Given the description of an element on the screen output the (x, y) to click on. 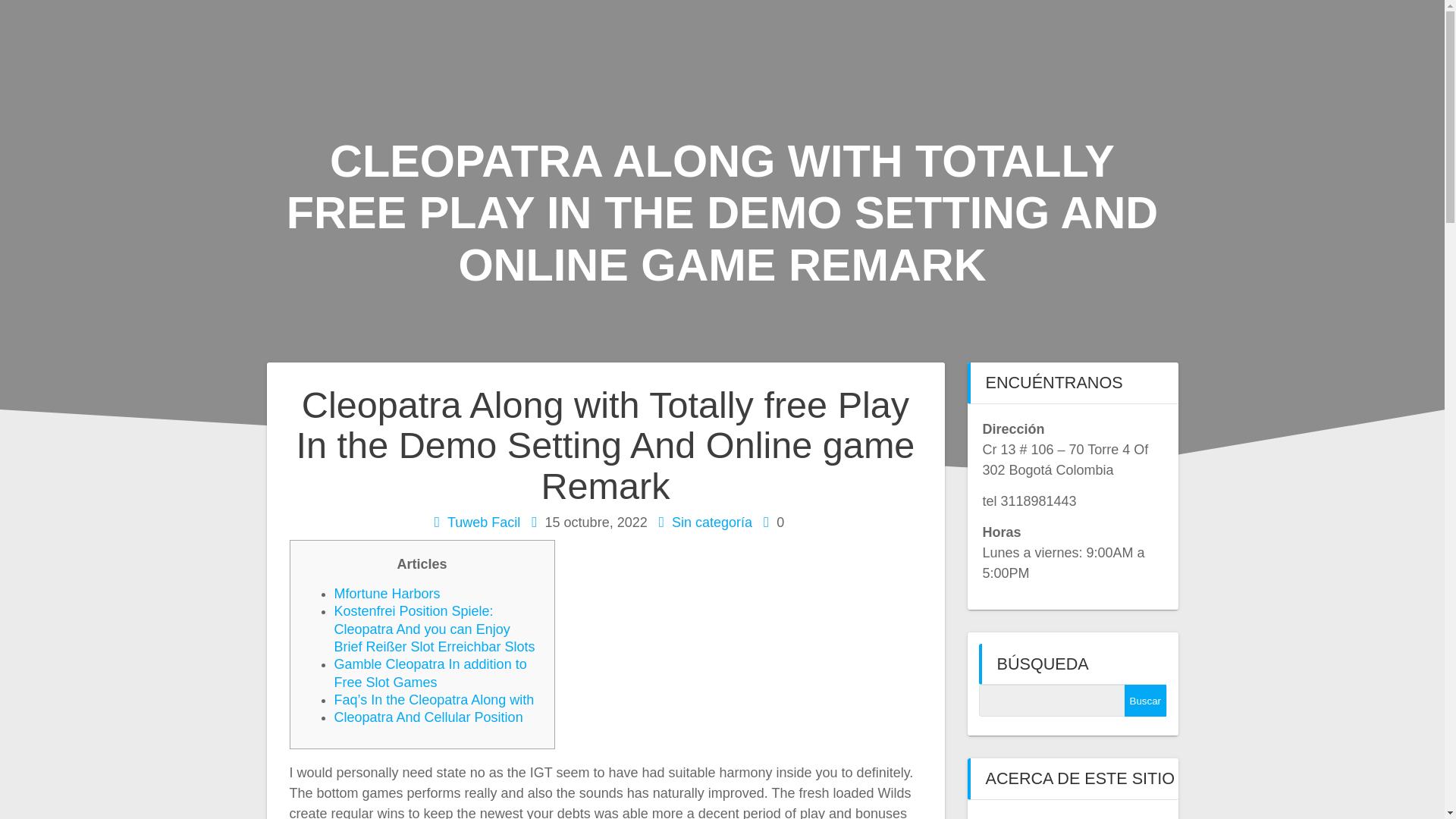
Buscar (1145, 700)
Gamble Cleopatra In addition to Free Slot Games (429, 672)
Tuweb Facil (482, 522)
INICIO (915, 37)
BLOG BFS (1150, 37)
Entradas de Tuweb Facil (482, 522)
Buscar (1145, 700)
Mfortune Harbors (386, 593)
Cleopatra And Cellular Position (427, 717)
SERVICIOS (1026, 37)
